Given the description of an element on the screen output the (x, y) to click on. 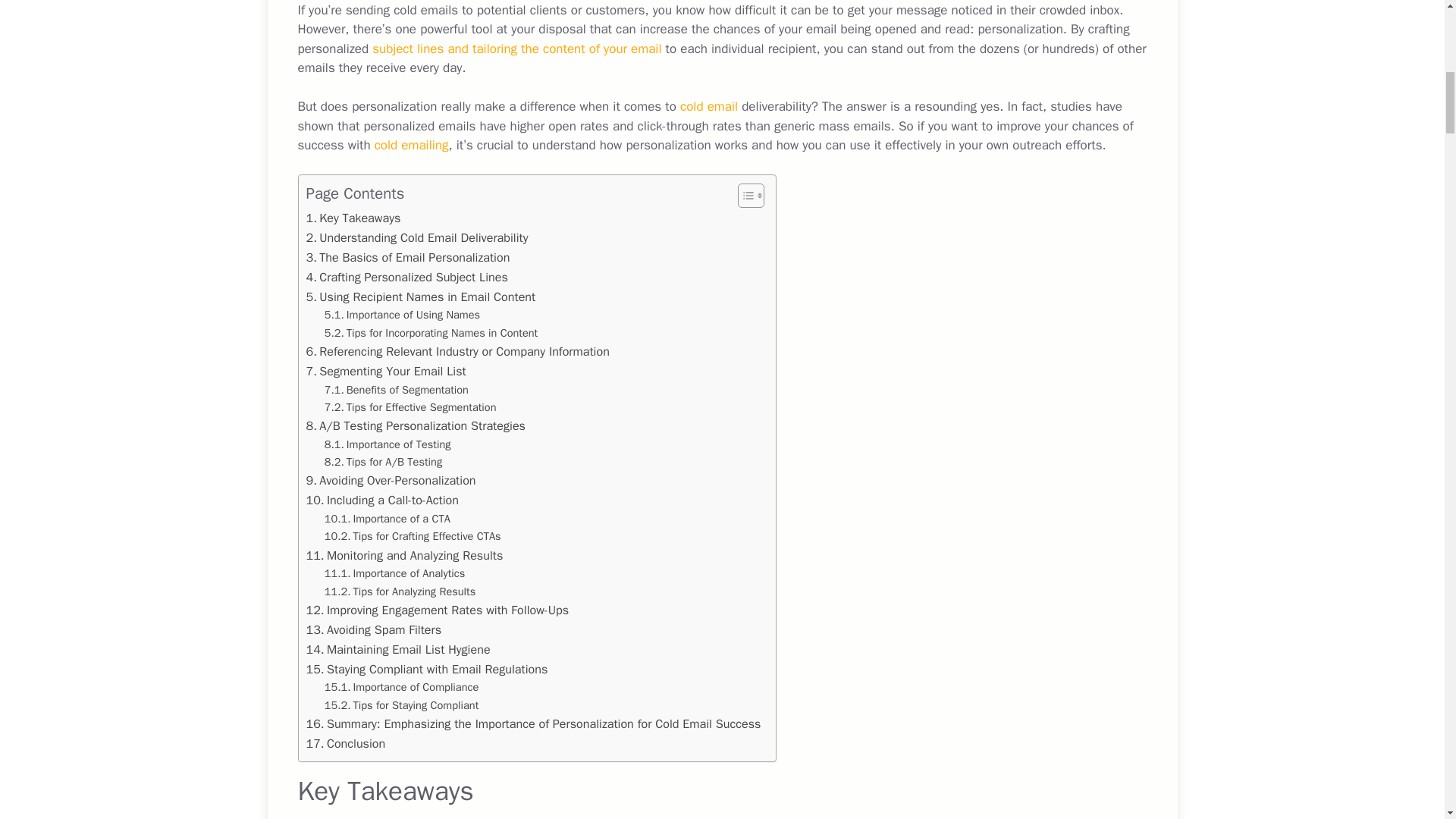
Avoiding Spam Filters (373, 629)
Cold Email Mistakes That Kill Your Response Rates (411, 145)
Understanding Cold Email Deliverability (416, 238)
The Basics of Email Personalization (408, 257)
Key Takeaways (353, 218)
The Basics of Email Personalization (408, 257)
How To Use Cold Email To Grow Your Business (708, 106)
cold email (708, 106)
subject lines and tailoring the content of your email (516, 48)
Referencing Relevant Industry or Company Information (457, 351)
Key Takeaways (353, 218)
Benefits of Segmentation (396, 389)
Benefits of Segmentation (396, 389)
Tips for Incorporating Names in Content (431, 333)
Importance of Using Names (402, 314)
